Given the description of an element on the screen output the (x, y) to click on. 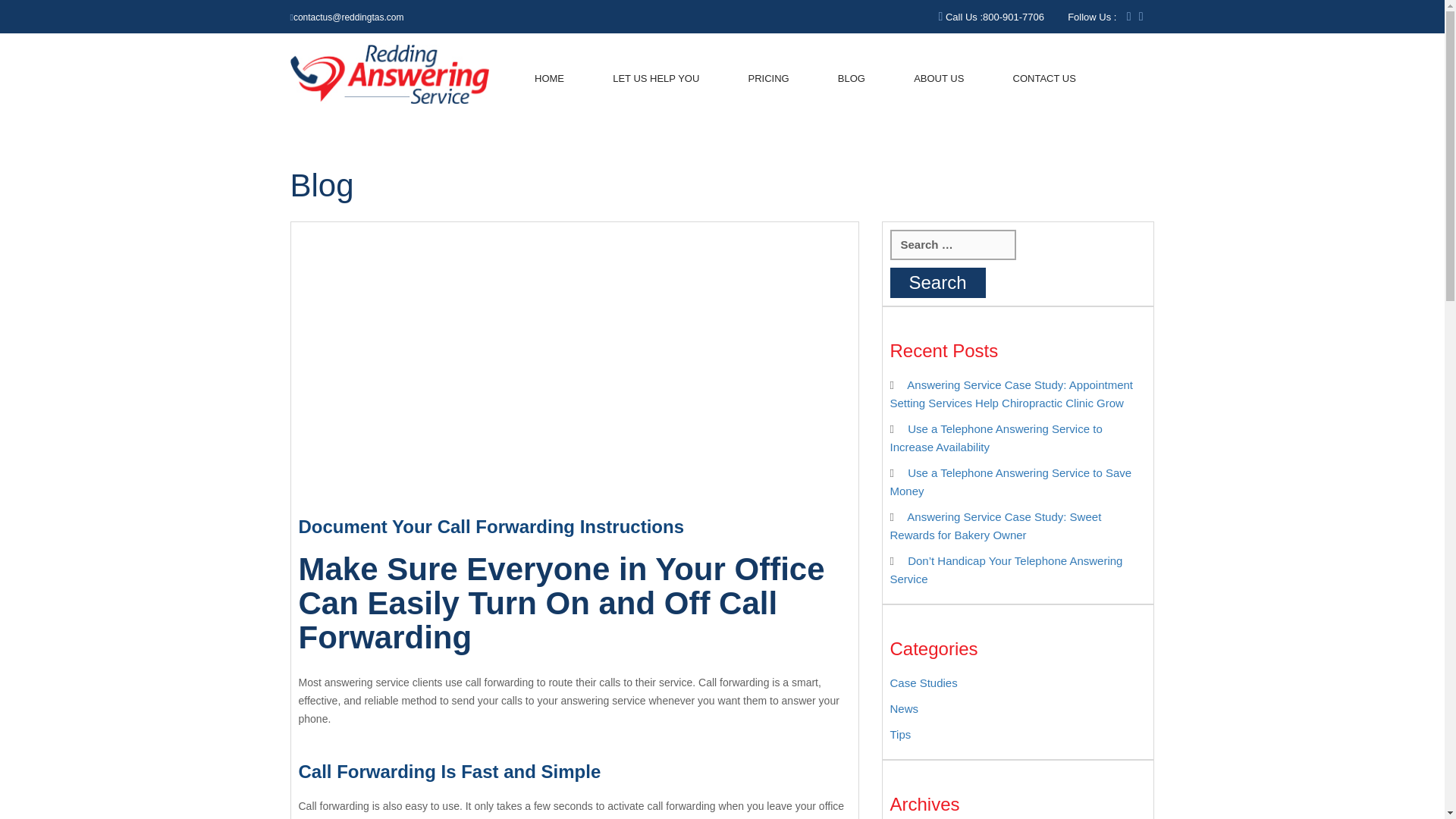
Search (937, 282)
Use a Telephone Answering Service to Save Money (1010, 481)
LET US HELP YOU (655, 78)
Tips (900, 734)
Search (937, 282)
Case Studies (923, 682)
BLOG (851, 78)
News (903, 707)
Use a Telephone Answering Service to Increase Availability (995, 437)
CONTACT US (1044, 78)
Redding Answering Service (389, 72)
PRICING (768, 78)
Answering Service Case Study: Sweet Rewards for Bakery Owner (995, 525)
Search (937, 282)
